Given the description of an element on the screen output the (x, y) to click on. 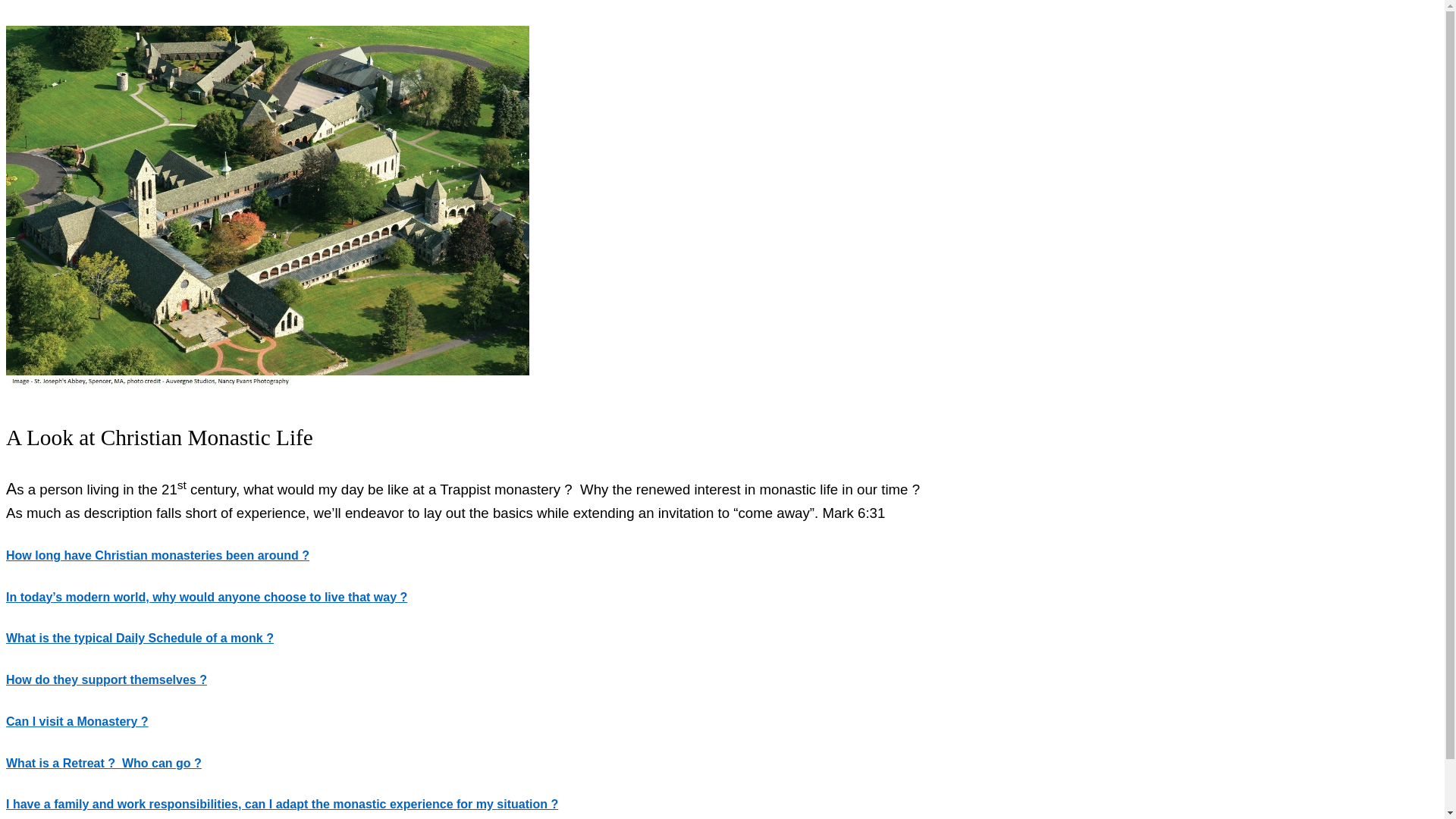
Can I visit a Monastery ? Element type: text (77, 721)
How do they support themselves ? Element type: text (106, 679)
What is a Retreat ?  Who can go ? Element type: text (103, 762)
How long have Christian monasteries been around ? Element type: text (157, 555)
What is the typical Daily Schedule of a monk ? Element type: text (139, 637)
